Given the description of an element on the screen output the (x, y) to click on. 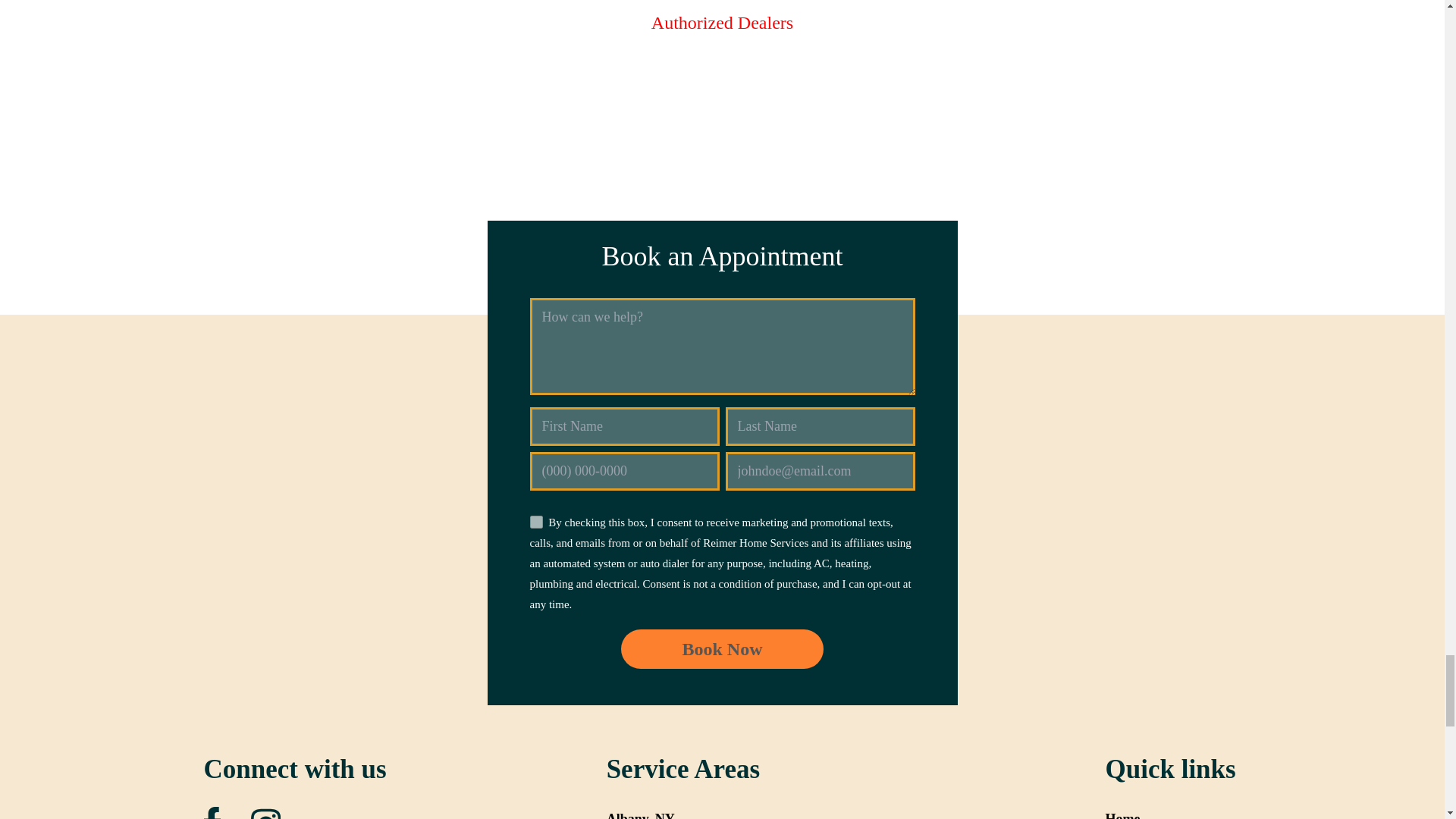
1 (535, 521)
